Given the description of an element on the screen output the (x, y) to click on. 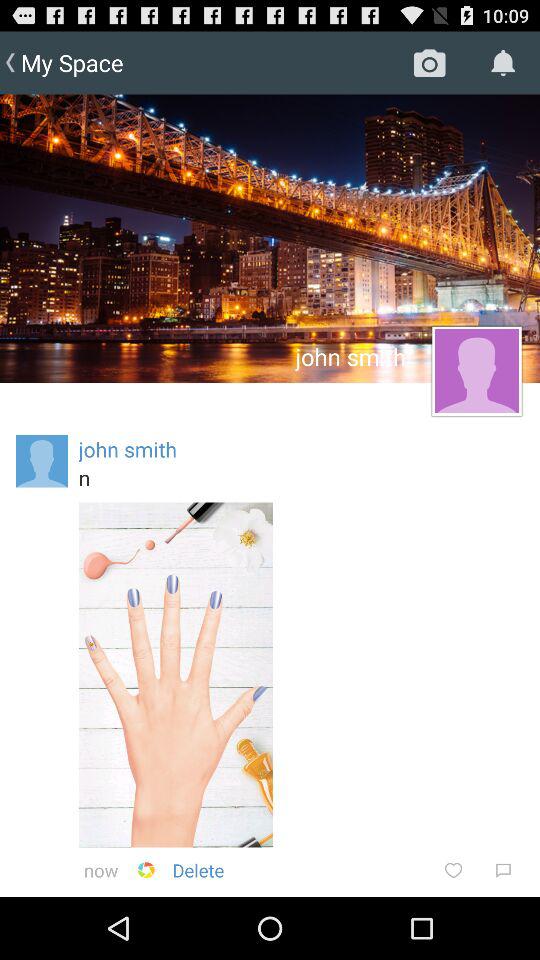
open app to the left of the john smith app (41, 461)
